Given the description of an element on the screen output the (x, y) to click on. 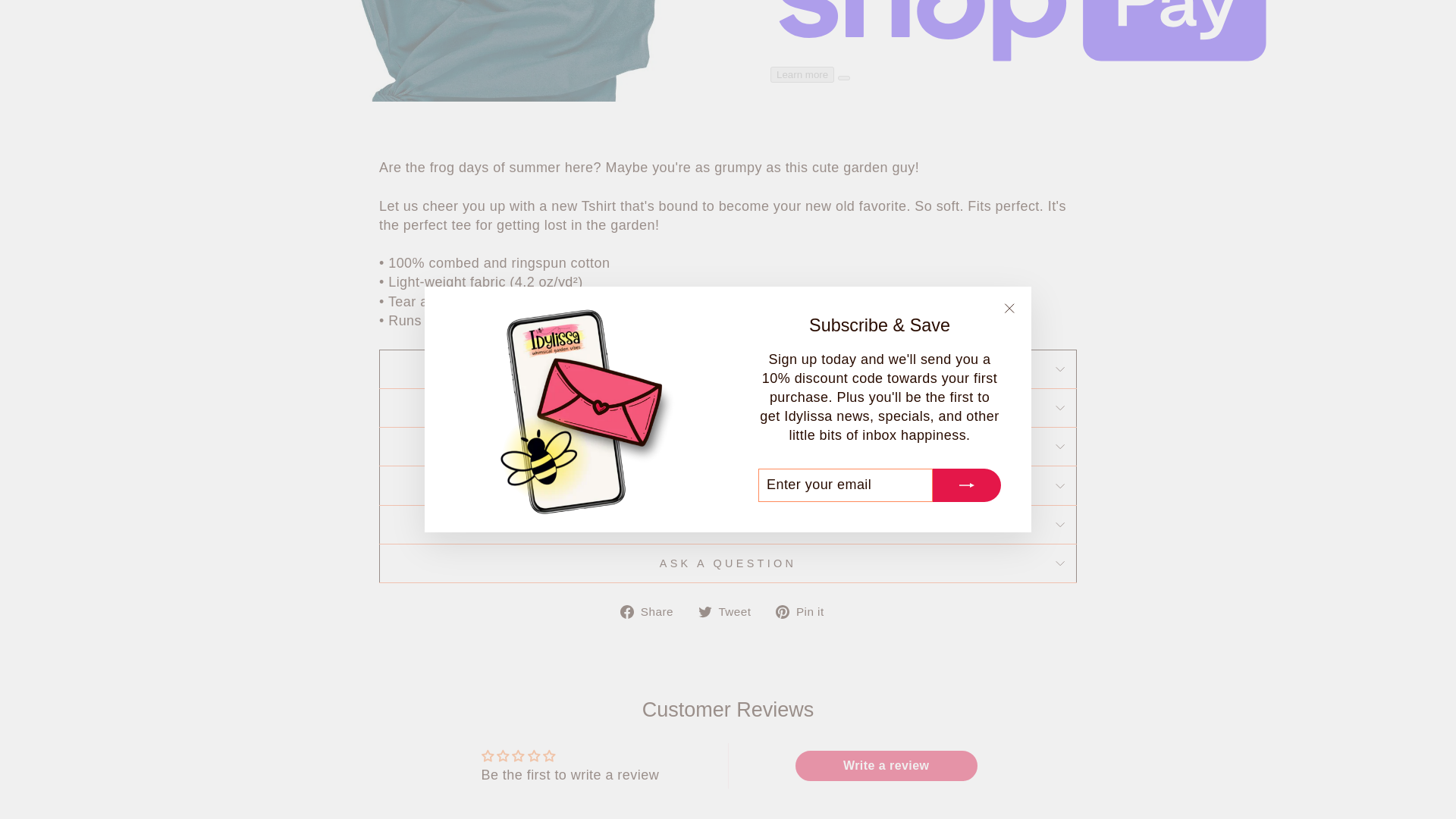
Tweet on Twitter (730, 610)
twitter (704, 612)
